Given the description of an element on the screen output the (x, y) to click on. 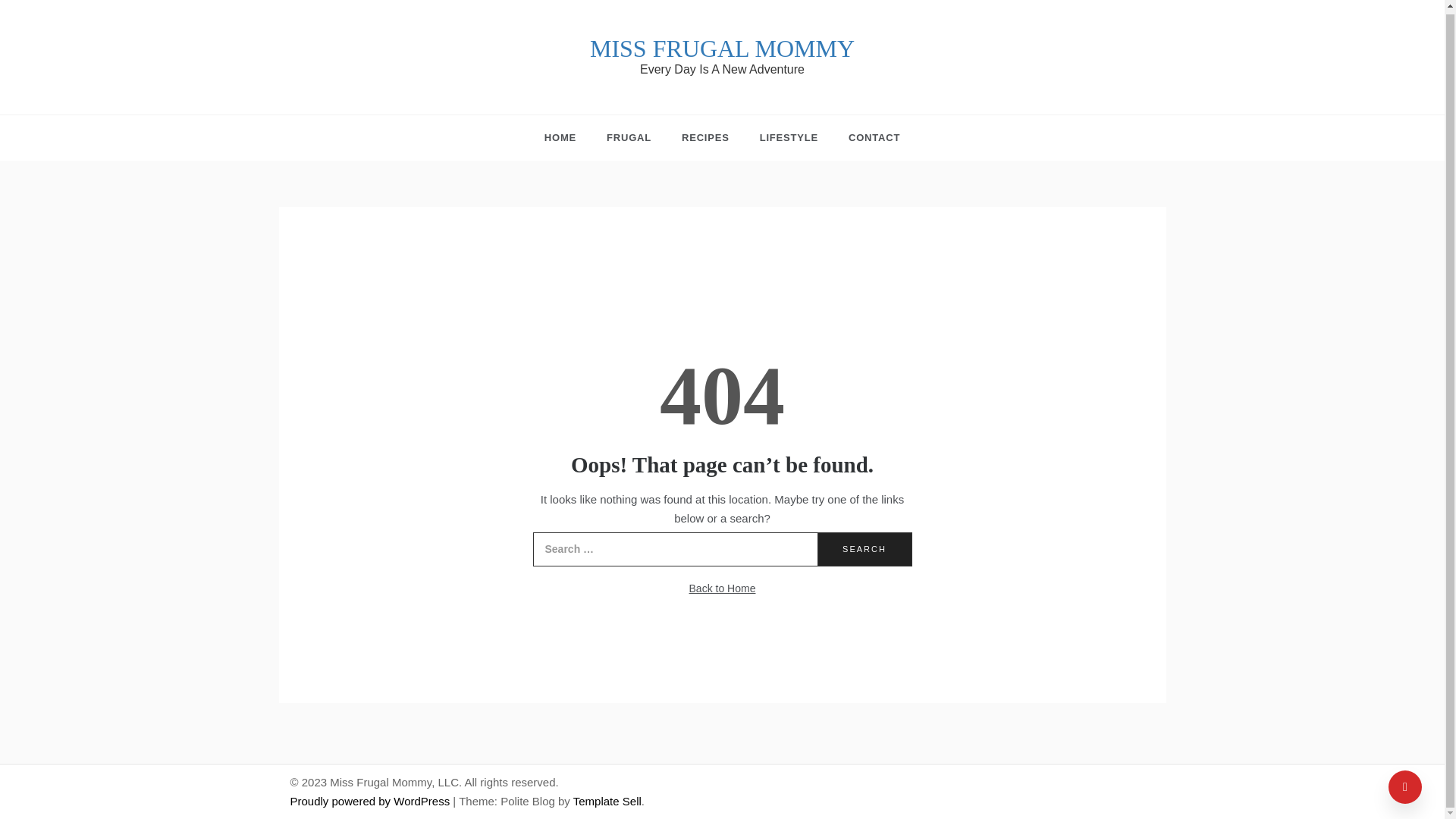
Search (864, 549)
Search (864, 549)
CONTACT (865, 137)
MISS FRUGAL MOMMY (721, 48)
Template Sell (607, 800)
Go to Top (1405, 783)
Back to Home (721, 588)
FRUGAL (628, 137)
RECIPES (705, 137)
Search (864, 549)
